Given the description of an element on the screen output the (x, y) to click on. 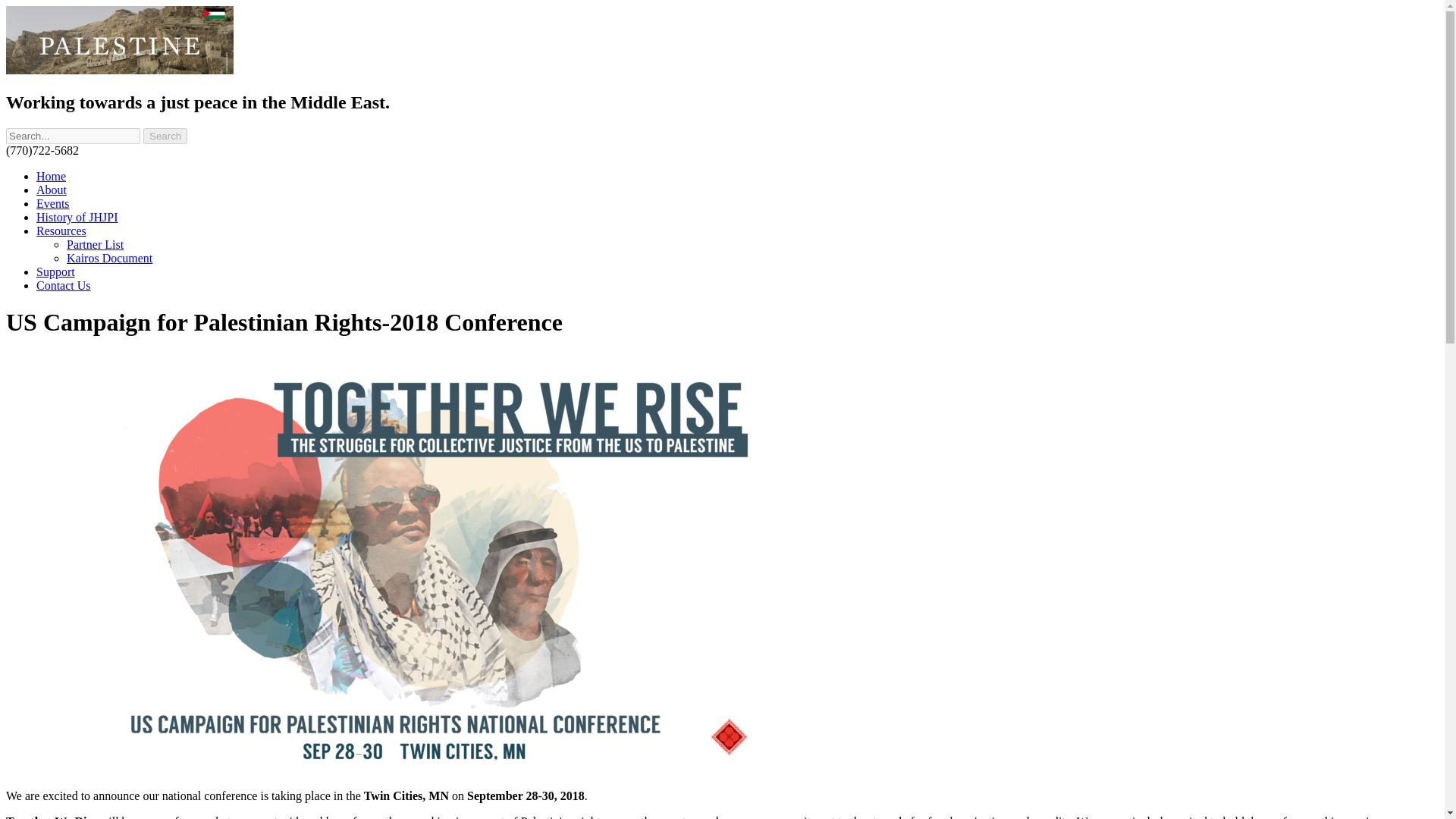
History of JHJPI (76, 216)
Kairos Document (109, 257)
Events (52, 203)
Contact Us (63, 285)
About (51, 189)
Partner List (94, 244)
Search (164, 135)
Search (164, 135)
Home (50, 175)
Support (55, 271)
